Given the description of an element on the screen output the (x, y) to click on. 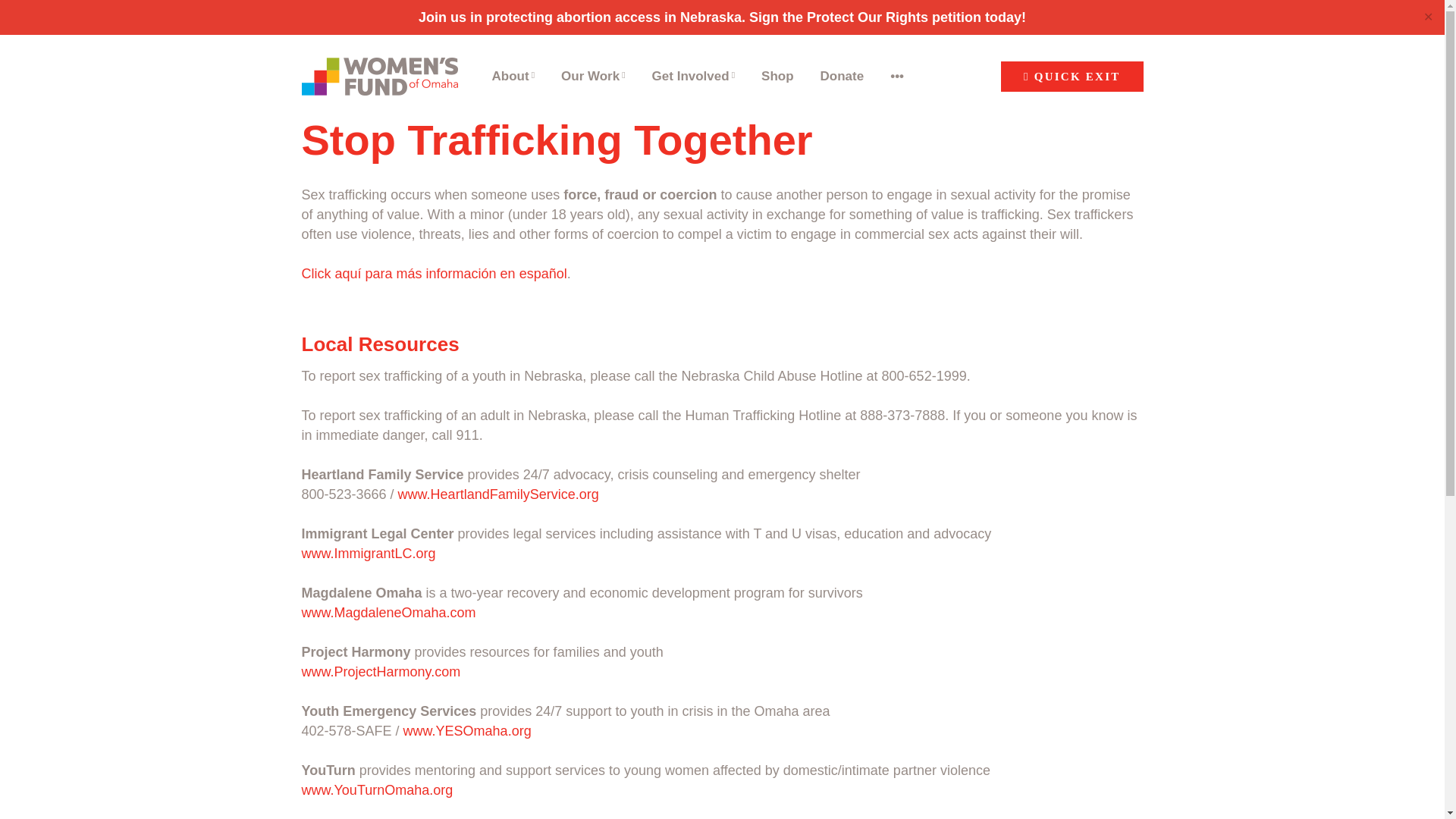
Women's Fund of Omaha (379, 76)
Sign the Protect Our Rights petition today! (887, 17)
About (513, 76)
